Given the description of an element on the screen output the (x, y) to click on. 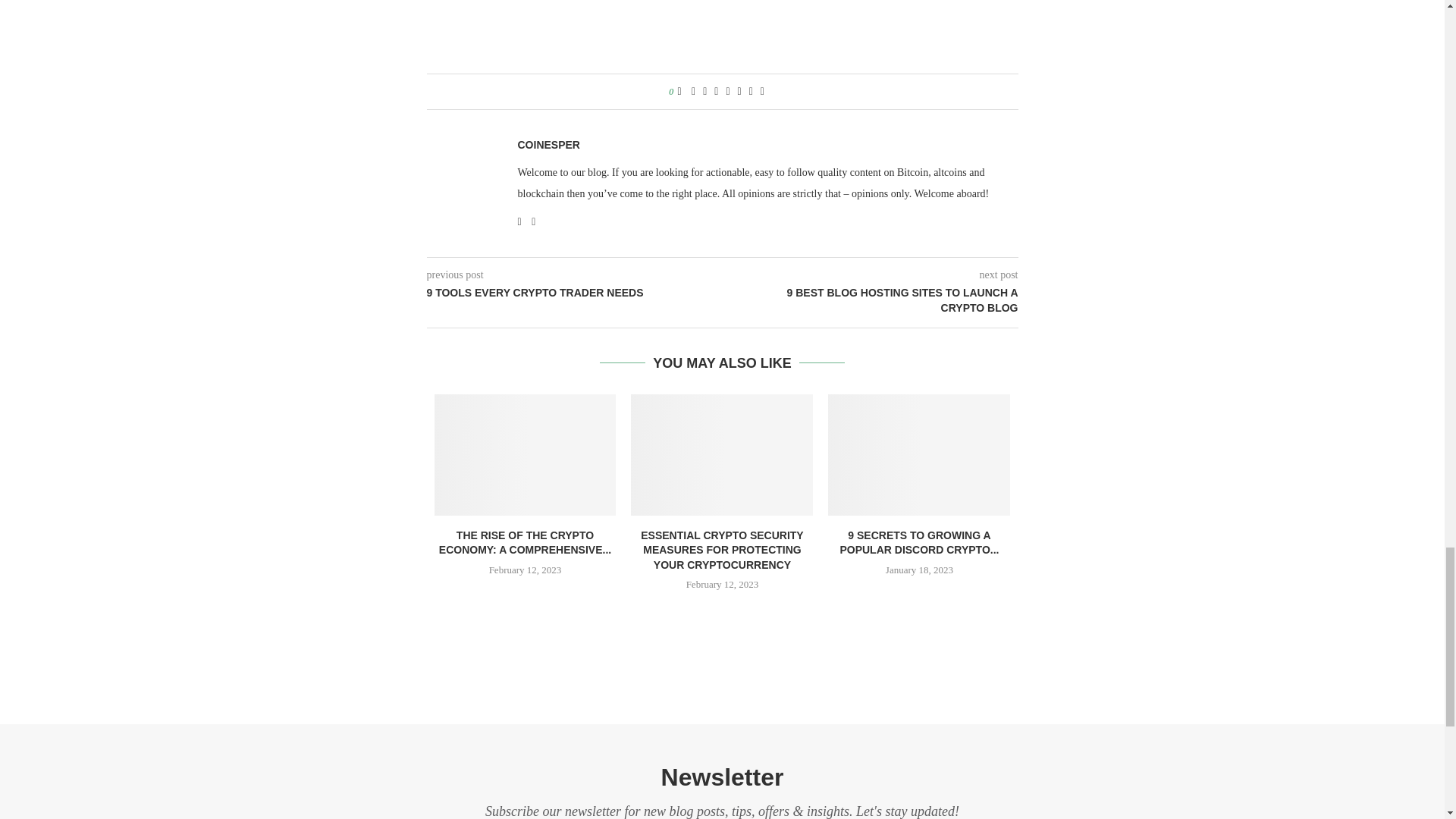
COINESPER (547, 144)
9 Secrets to Growing a Popular Discord Crypto Group (919, 454)
9 SECRETS TO GROWING A POPULAR DISCORD CRYPTO... (919, 542)
9 BEST BLOG HOSTING SITES TO LAUNCH A CRYPTO BLOG (869, 300)
9 TOOLS EVERY CRYPTO TRADER NEEDS (574, 293)
The Rise of the Crypto Economy: A Comprehensive Overview (524, 454)
THE RISE OF THE CRYPTO ECONOMY: A COMPREHENSIVE... (525, 542)
Author CoinEsper (547, 144)
